Given the description of an element on the screen output the (x, y) to click on. 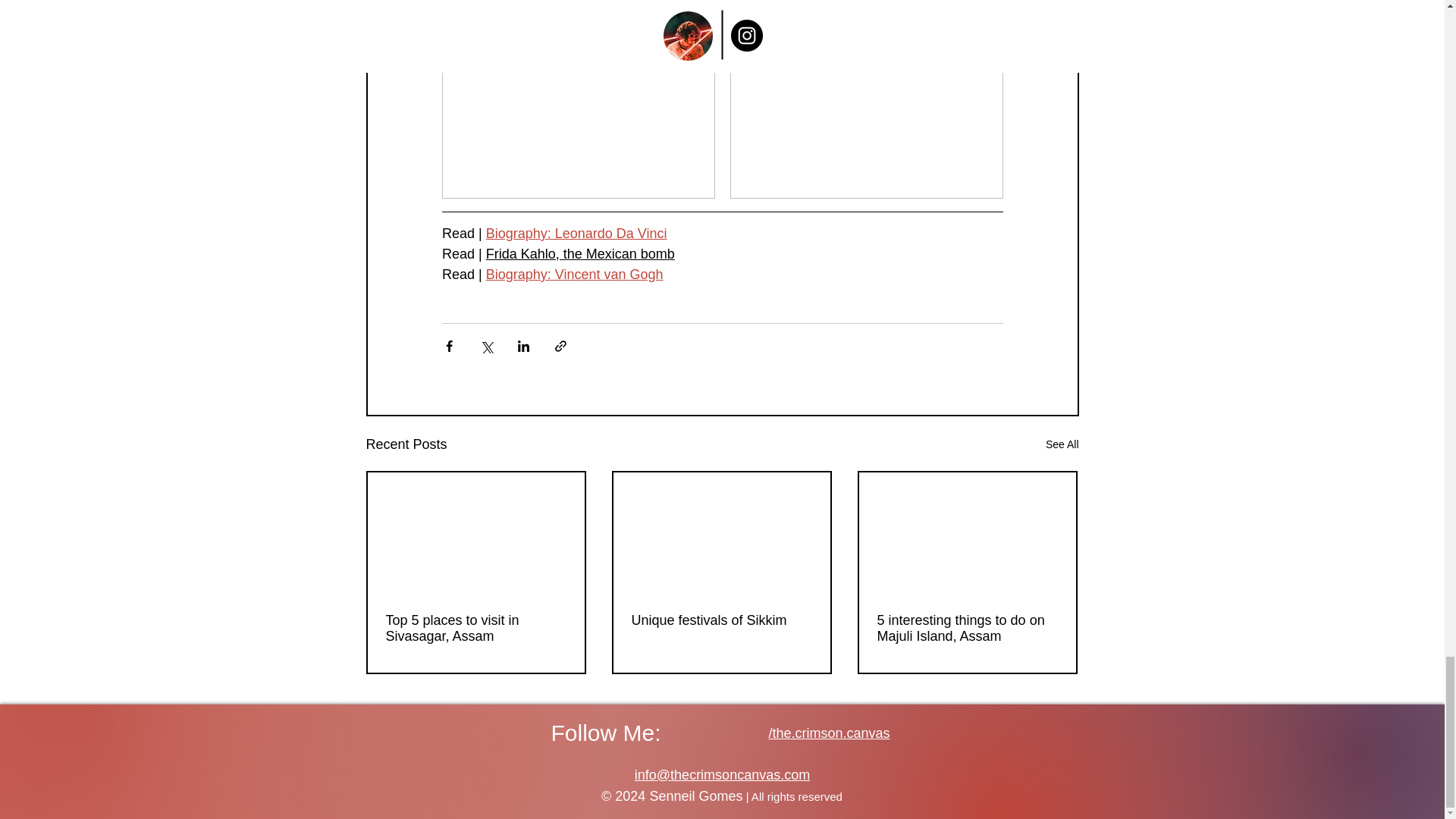
See All (1061, 444)
Biography: Vincent van Gogh (573, 273)
Unique festivals of Sikkim (720, 620)
Top 5 places to visit in Sivasagar, Assam (475, 628)
Frida Kahlo, the Mexican bomb (579, 253)
5 interesting things to do on Majuli Island, Assam (966, 628)
Biography: Leonardo Da Vinci (575, 233)
